Given the description of an element on the screen output the (x, y) to click on. 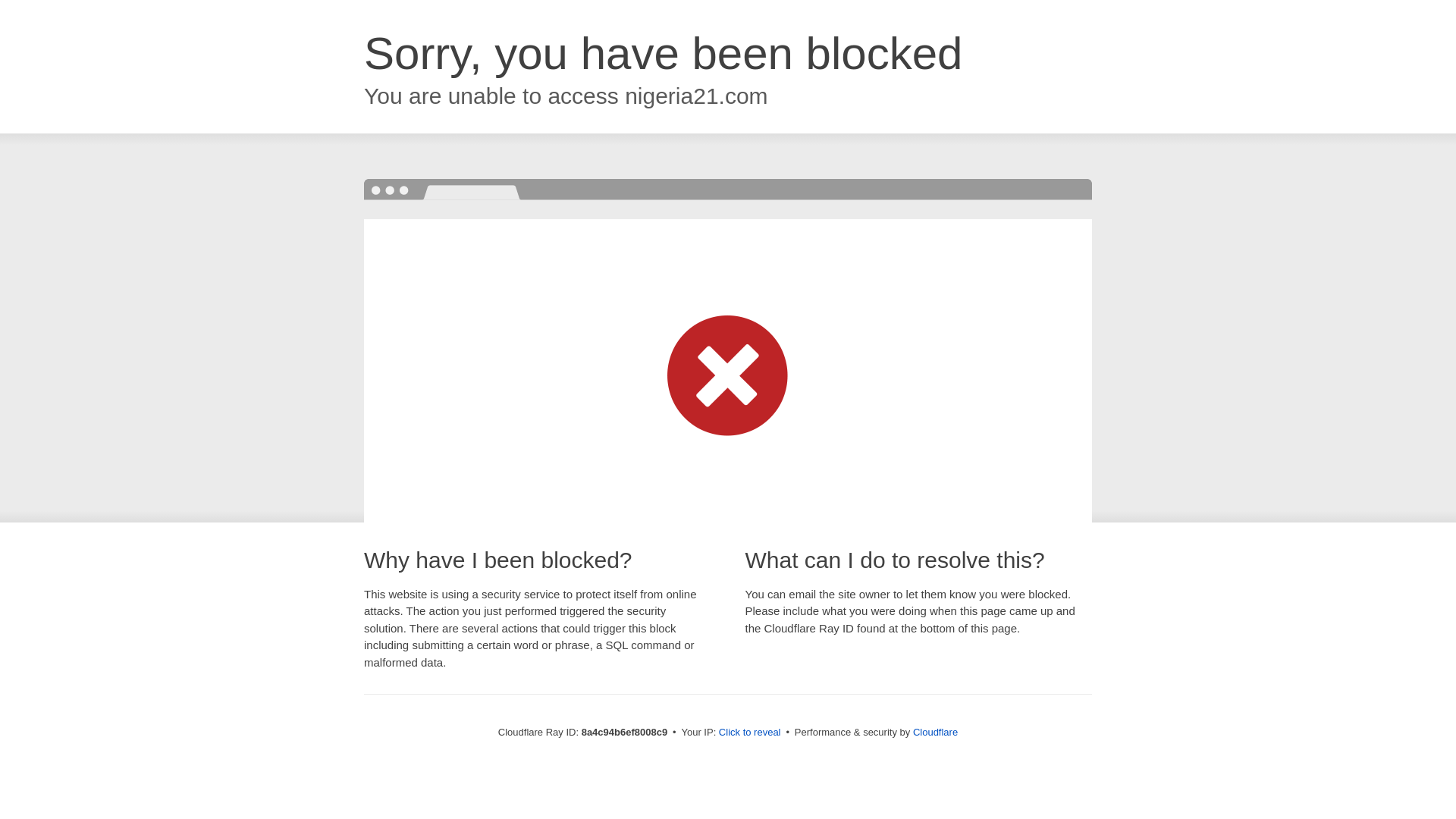
Click to reveal (749, 732)
Cloudflare (935, 731)
